Given the description of an element on the screen output the (x, y) to click on. 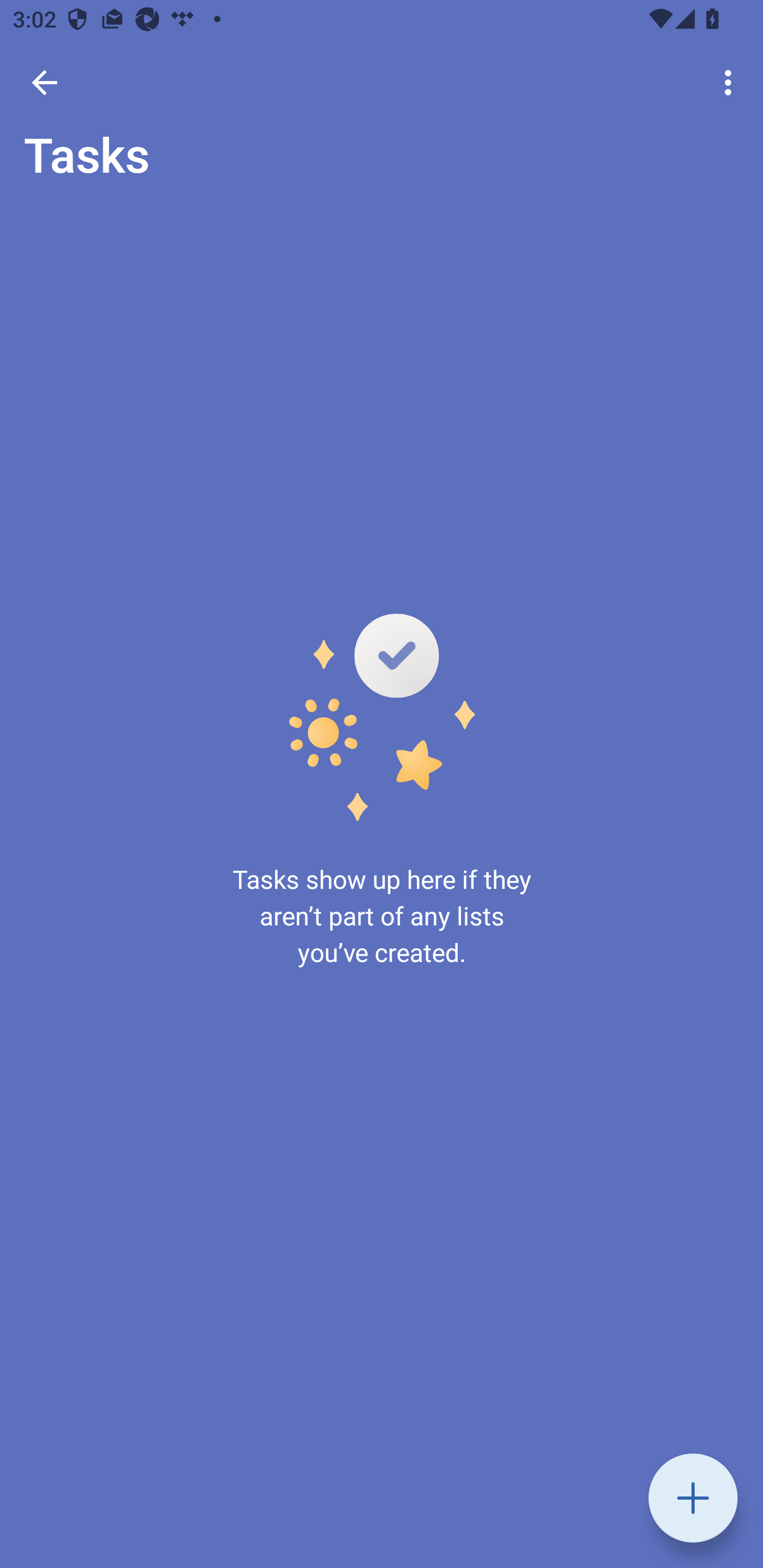
Add a task (692, 1497)
